Given the description of an element on the screen output the (x, y) to click on. 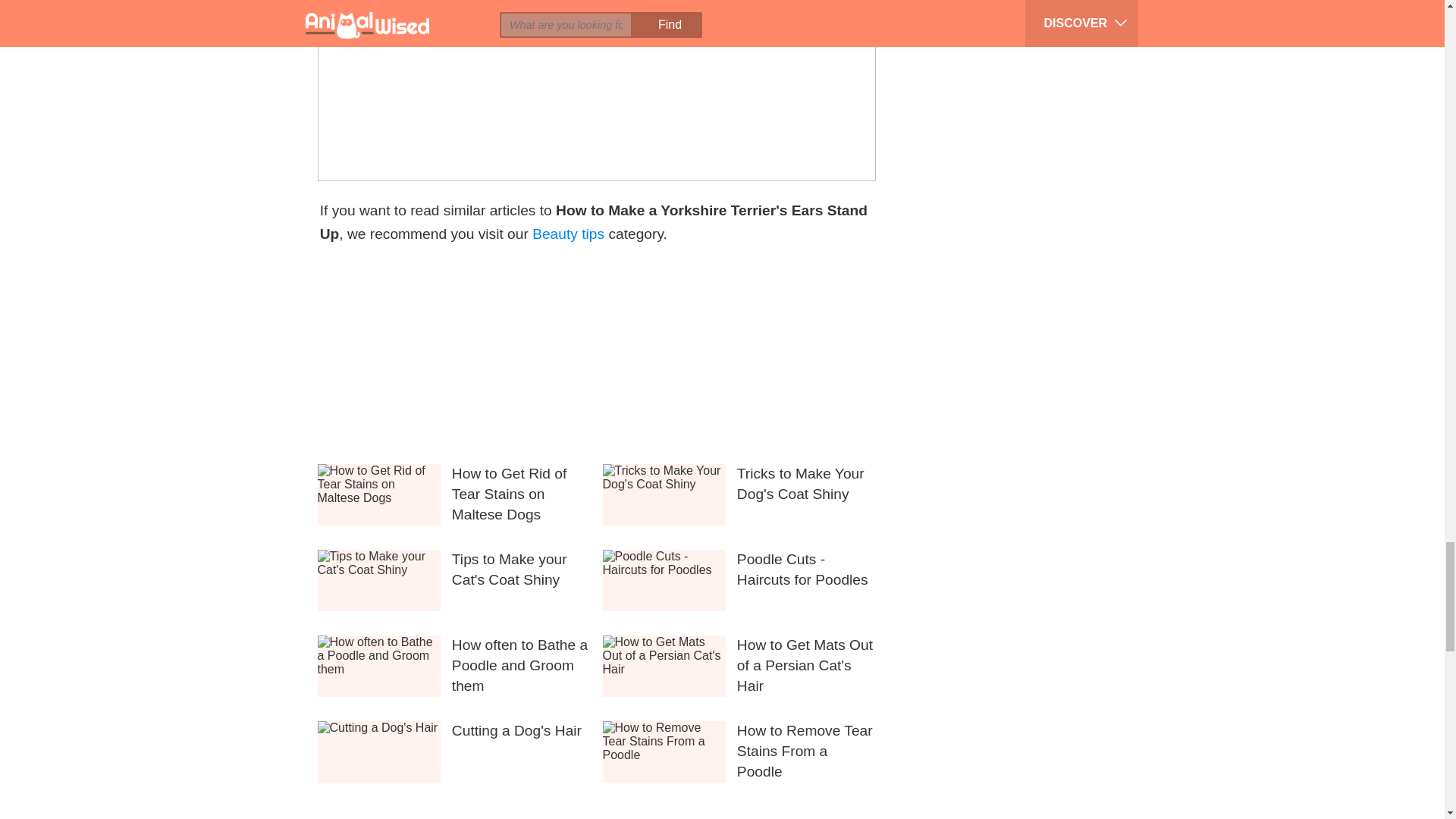
Beauty tips (568, 233)
